Given the description of an element on the screen output the (x, y) to click on. 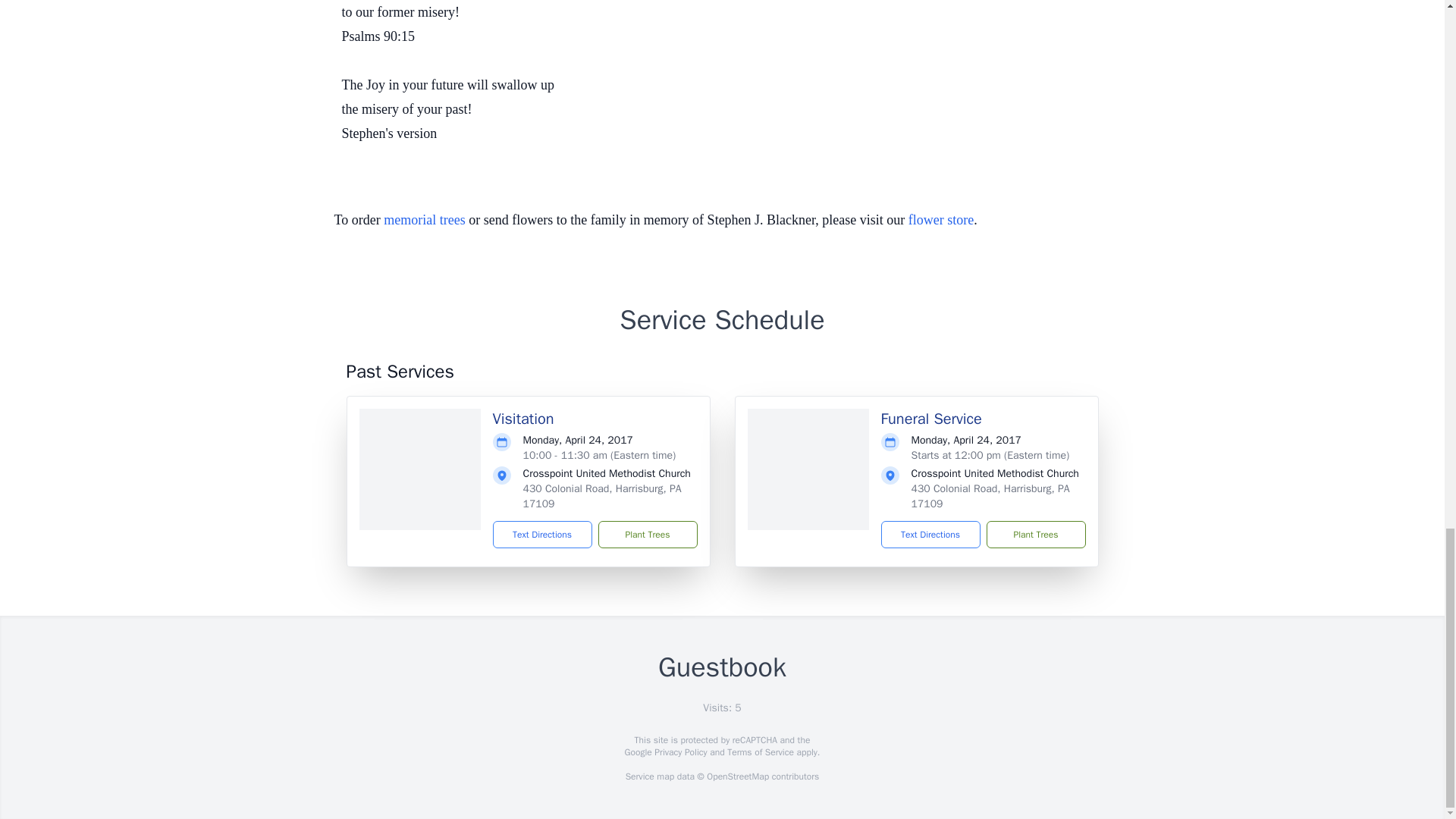
Privacy Policy (679, 752)
memorial trees (424, 219)
OpenStreetMap (737, 776)
flower store (941, 219)
430 Colonial Road, Harrisburg, PA 17109 (990, 496)
Text Directions (542, 533)
Terms of Service (759, 752)
Plant Trees (646, 533)
Plant Trees (1034, 533)
Text Directions (929, 533)
430 Colonial Road, Harrisburg, PA 17109 (601, 496)
